Given the description of an element on the screen output the (x, y) to click on. 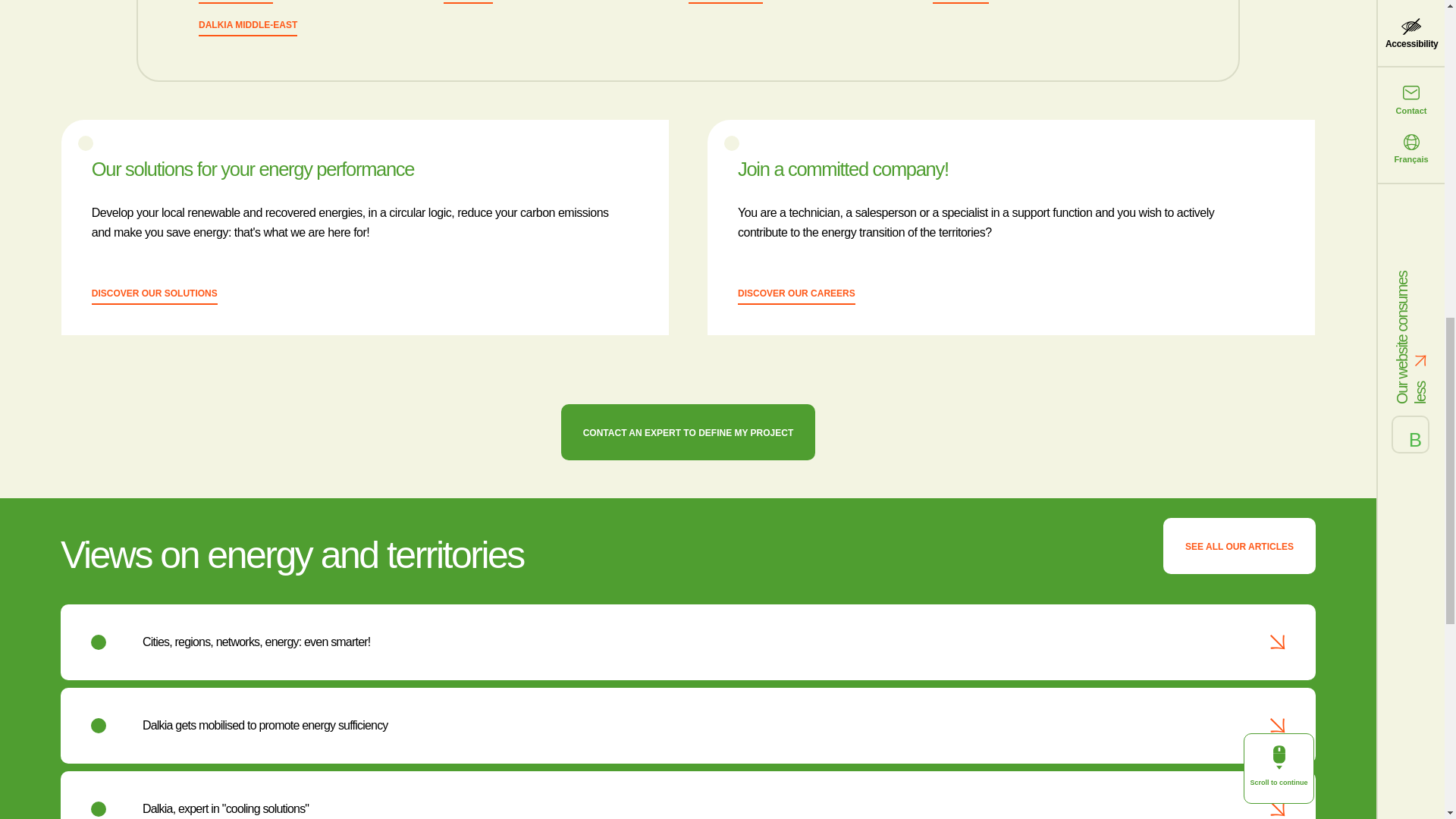
SEE ALL OUR ARTICLES (1239, 545)
DALKIA MIDDLE-EAST (247, 27)
Dalkia UK - New window (468, 2)
DISCOVER OUR CAREERS (797, 296)
Dalkia, expert in "cooling solutions" (225, 808)
Dalkia gets mobilised to promote energy sufficiency (265, 725)
Dalkia Middle-East - New window (247, 27)
DALKIA FRANCE (235, 2)
Dalkia USA - New window (960, 2)
Cities, regions, networks, energy: even smarter! (255, 641)
CONTACT AN EXPERT TO DEFINE MY PROJECT (687, 431)
DALKIA USA (960, 2)
DISCOVER OUR SOLUTIONS (153, 296)
DALKIA UK (468, 2)
Cities, regions, networks, energy: even smarter! (255, 641)
